Given the description of an element on the screen output the (x, y) to click on. 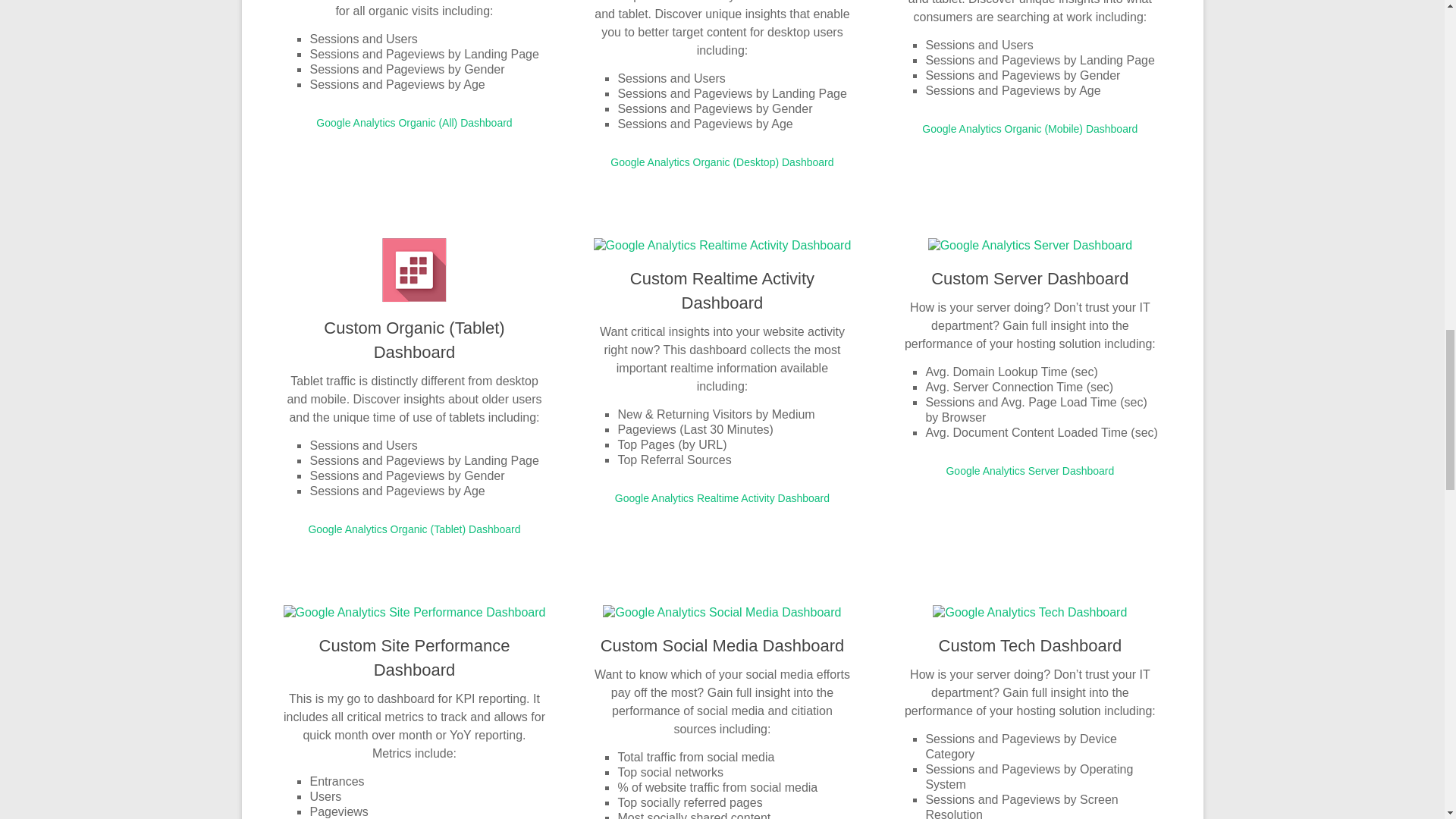
Google Analytics Realtime Activity Dashboard (721, 498)
Custom Realtime Activity Dashboard (721, 290)
